Given the description of an element on the screen output the (x, y) to click on. 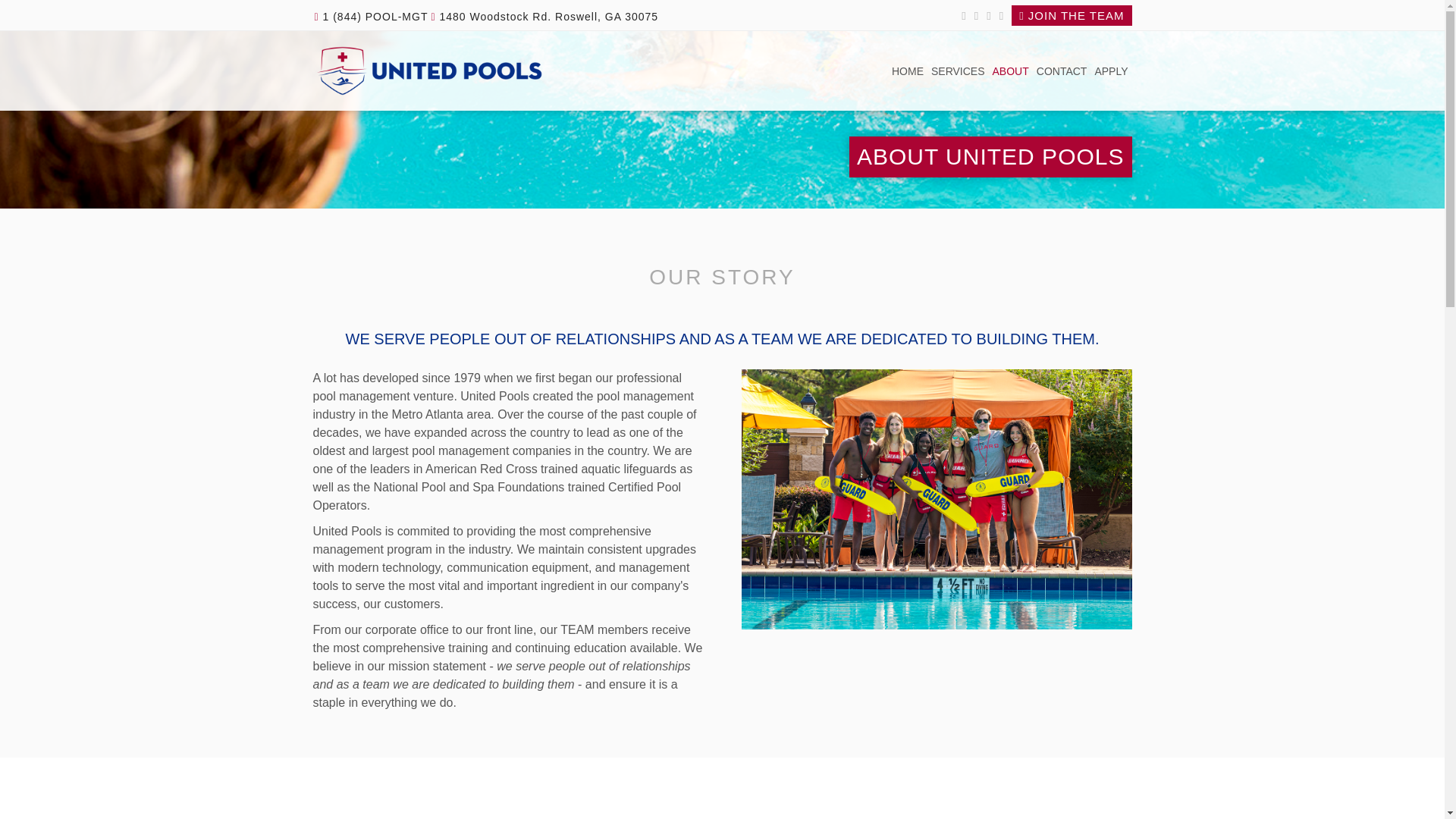
CONTACT (1061, 71)
JOIN THE TEAM (1071, 14)
APPLY (1110, 71)
ABOUT (1010, 71)
1480 Woodstock Rd. Roswell, GA 30075 (544, 16)
SERVICES (957, 71)
HOME (907, 71)
